Given the description of an element on the screen output the (x, y) to click on. 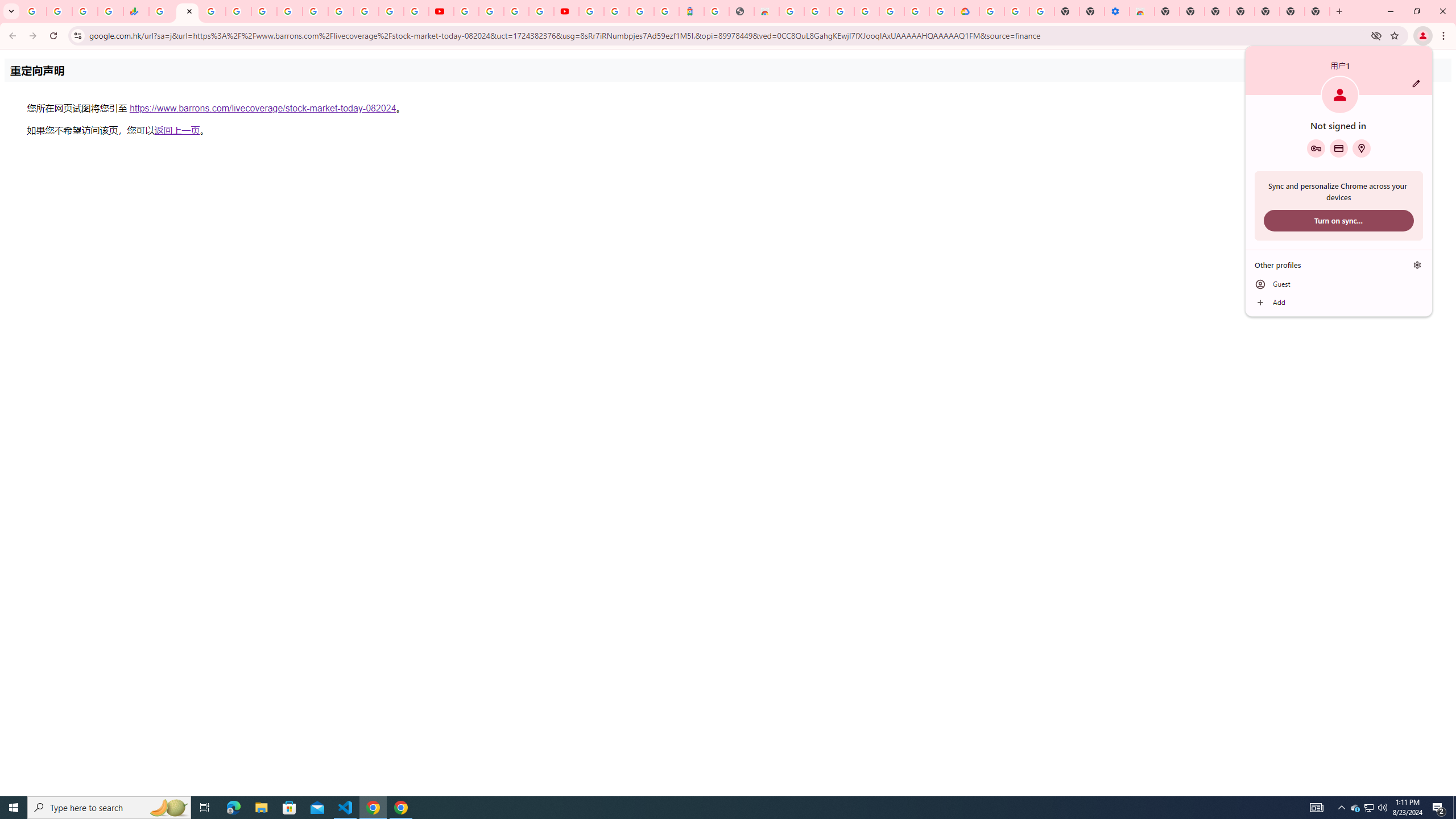
Microsoft Edge (233, 807)
Sign in - Google Accounts (1368, 807)
Google Password Manager (616, 11)
Start (1315, 148)
AutomationID: 4105 (13, 807)
Add (1316, 807)
YouTube (1338, 302)
